Given the description of an element on the screen output the (x, y) to click on. 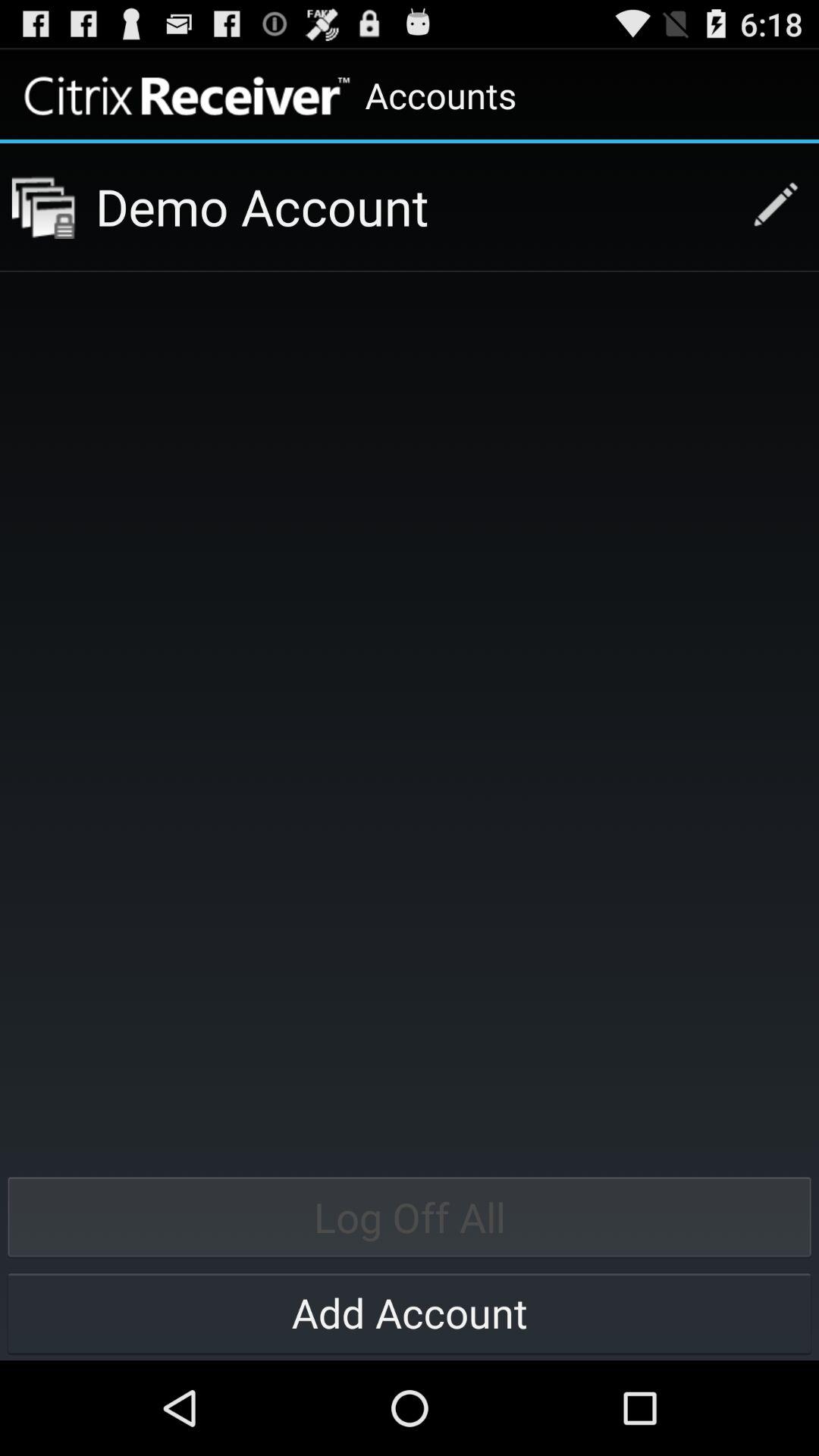
jump until add account item (409, 1312)
